Given the description of an element on the screen output the (x, y) to click on. 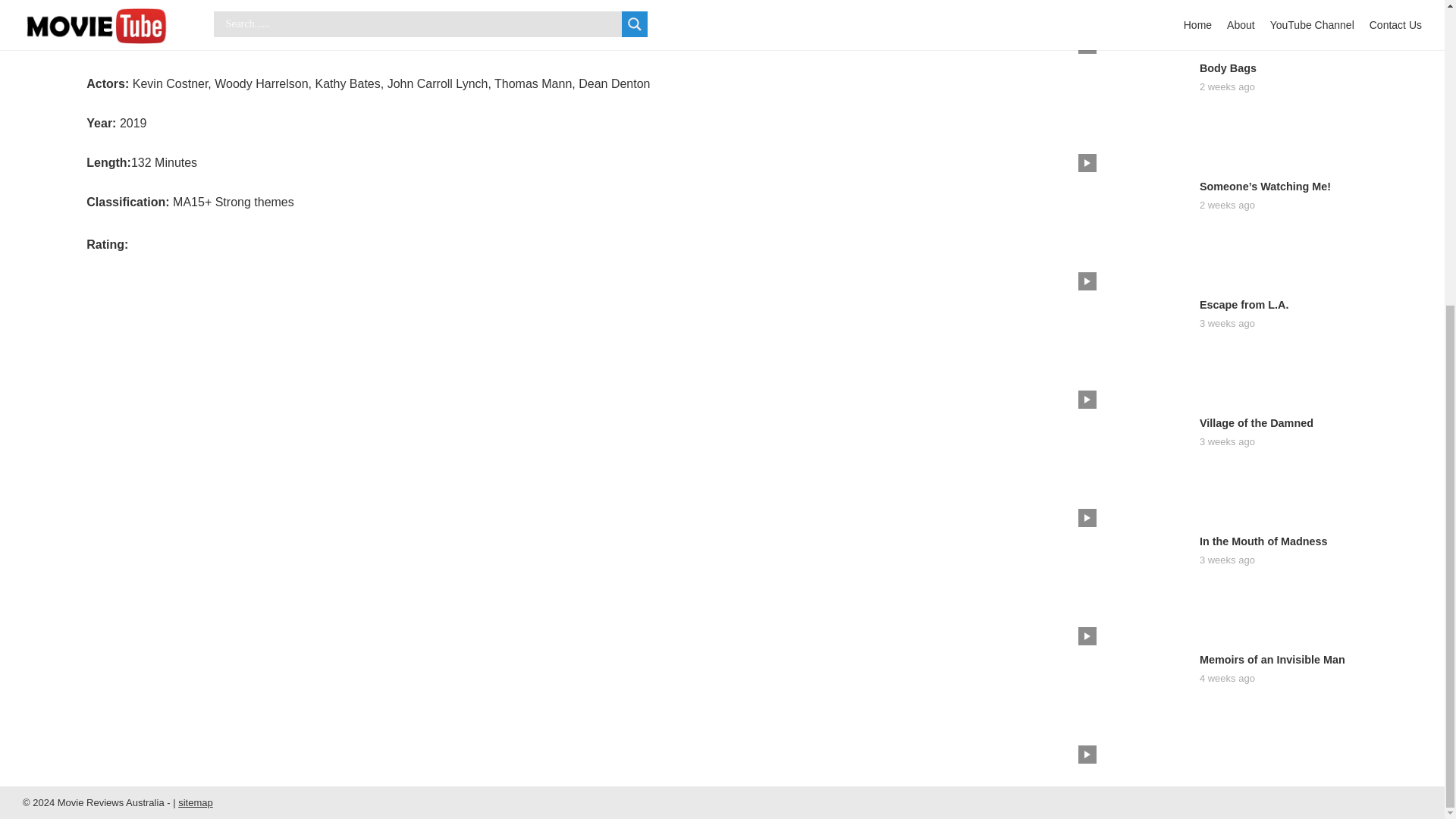
Body Bags (1227, 68)
